Given the description of an element on the screen output the (x, y) to click on. 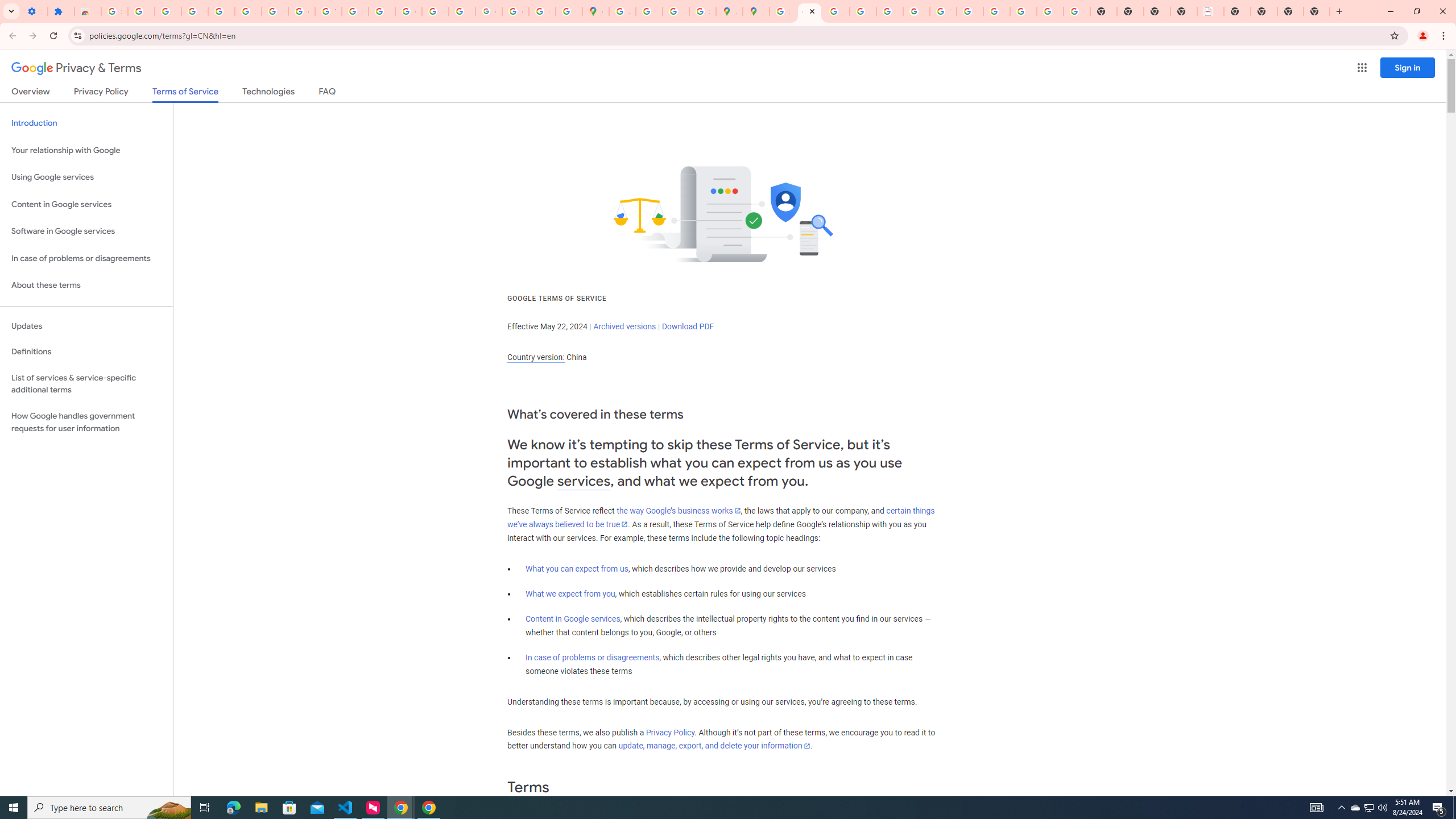
Software in Google services (86, 230)
How Google handles government requests for user information (86, 422)
update, manage, export, and delete your information (714, 746)
YouTube (943, 11)
Settings - On startup (34, 11)
YouTube (328, 11)
